Given the description of an element on the screen output the (x, y) to click on. 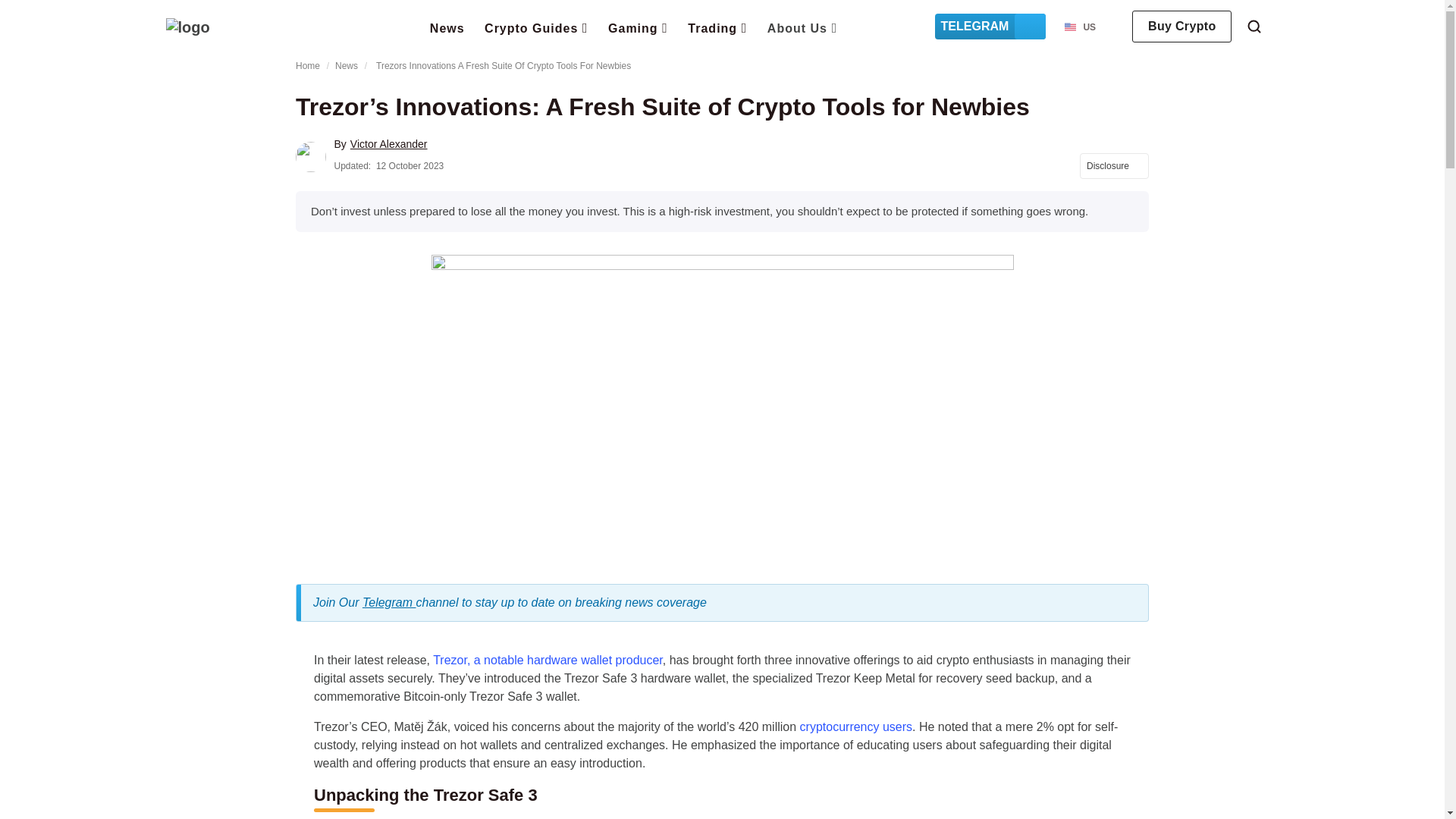
Home (187, 27)
Crypto Guides (536, 26)
